Given the description of an element on the screen output the (x, y) to click on. 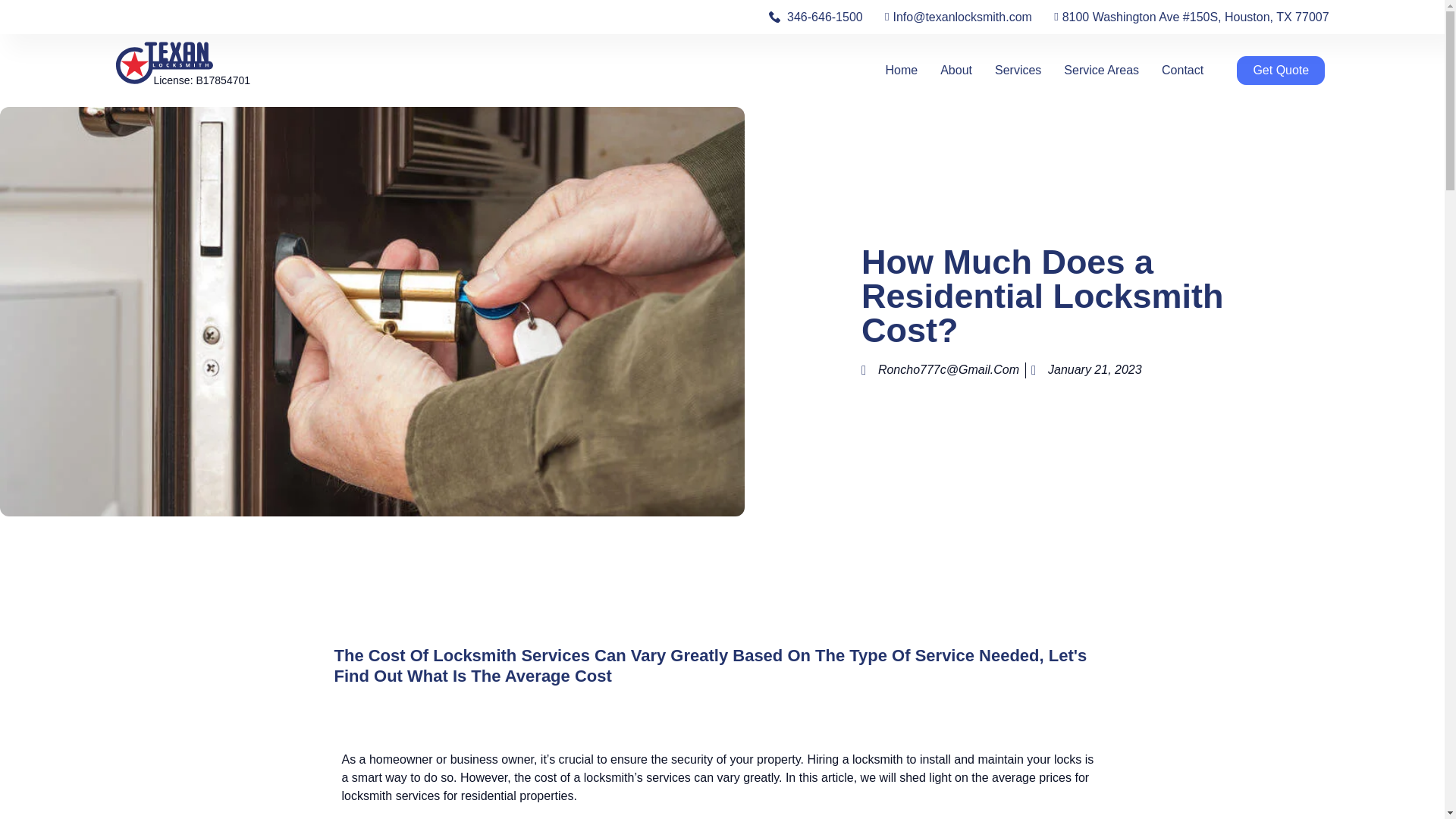
346-646-1500 (814, 16)
About (956, 70)
Service Areas (1101, 70)
Services (1017, 70)
Contact (1182, 70)
Get Quote (1280, 70)
Home (901, 70)
